Given the description of an element on the screen output the (x, y) to click on. 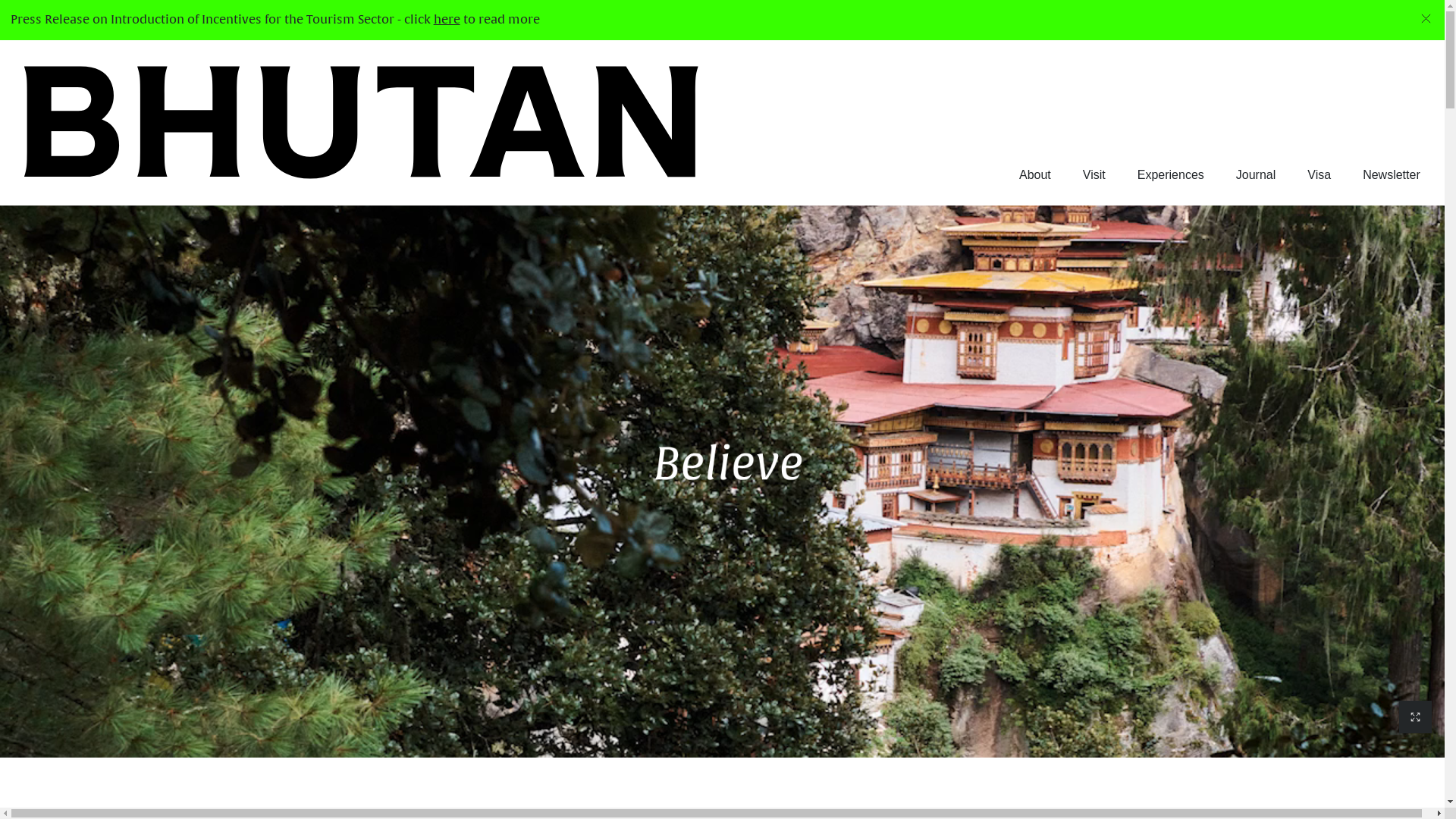
Visit Element type: text (1093, 175)
here Element type: text (446, 18)
Experiences Element type: text (1170, 175)
Journal Element type: text (1255, 175)
Visa Element type: text (1319, 175)
About Element type: text (1035, 175)
Newsletter Element type: text (1391, 175)
